Given the description of an element on the screen output the (x, y) to click on. 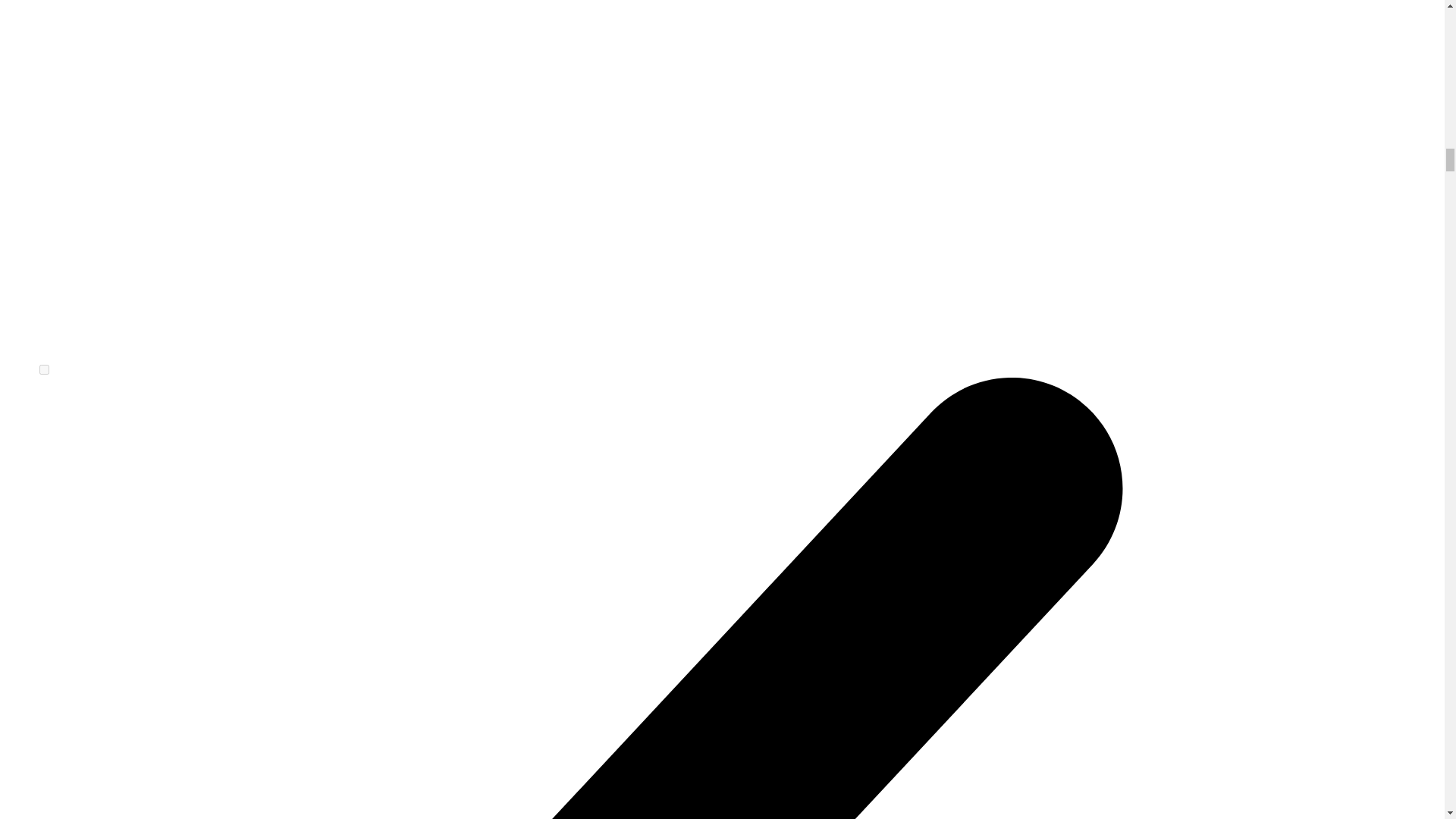
on (44, 369)
